Given the description of an element on the screen output the (x, y) to click on. 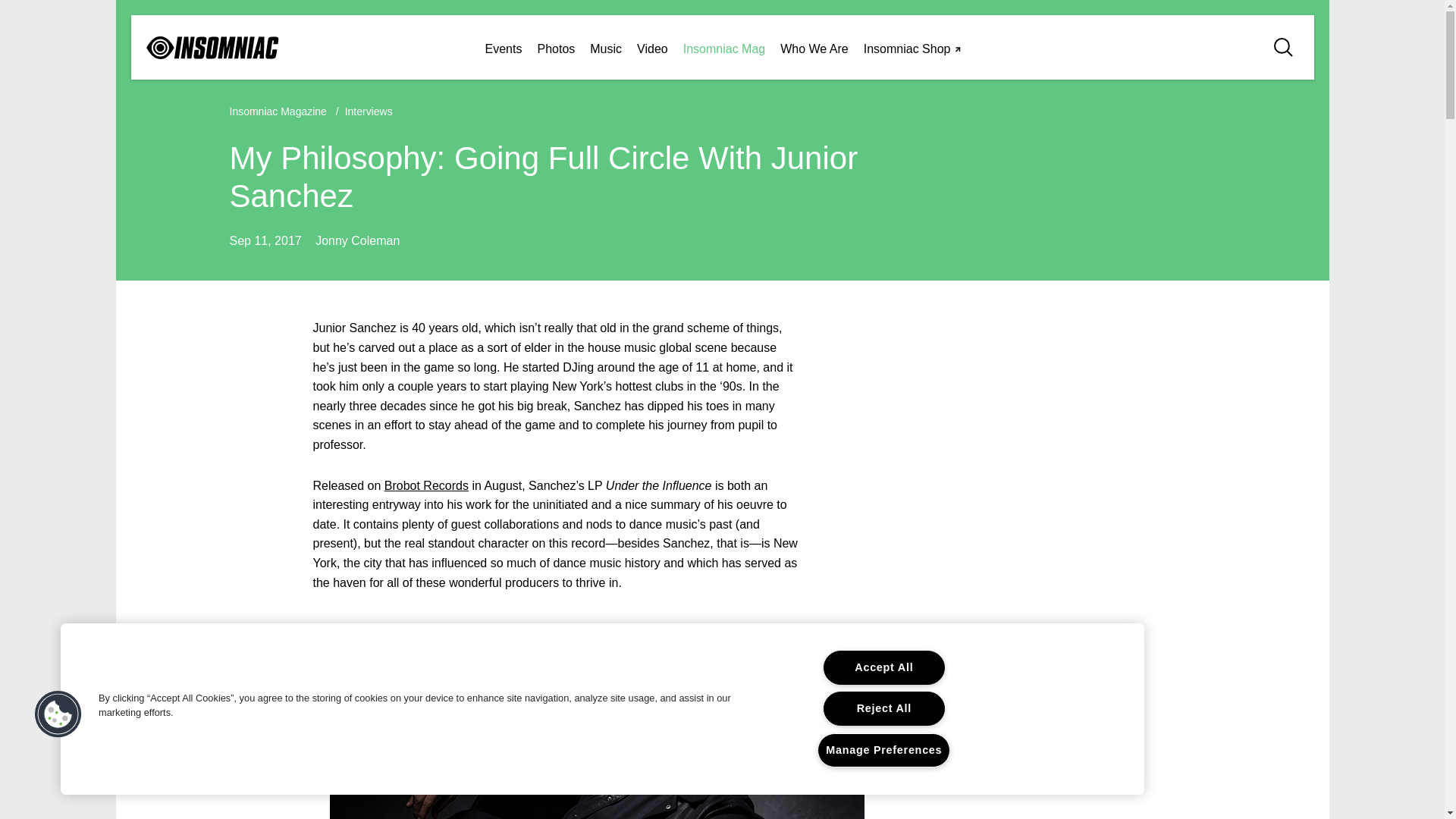
Cookies Button (57, 714)
Insomniac Shop (915, 47)
Insomniac Mag (724, 47)
Who We Are (814, 47)
